Given the description of an element on the screen output the (x, y) to click on. 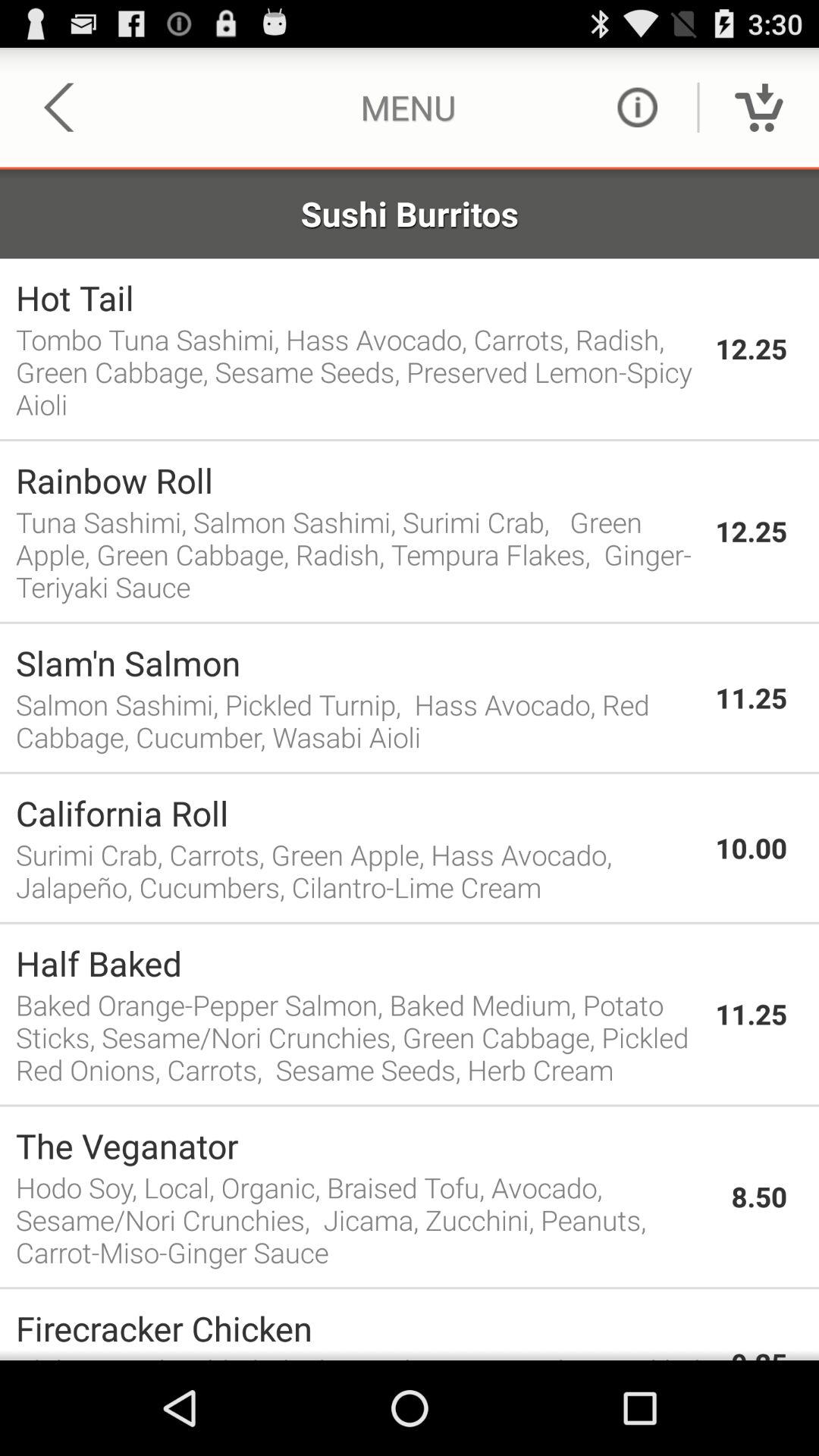
turn on app to the left of the 12.25 (357, 297)
